Given the description of an element on the screen output the (x, y) to click on. 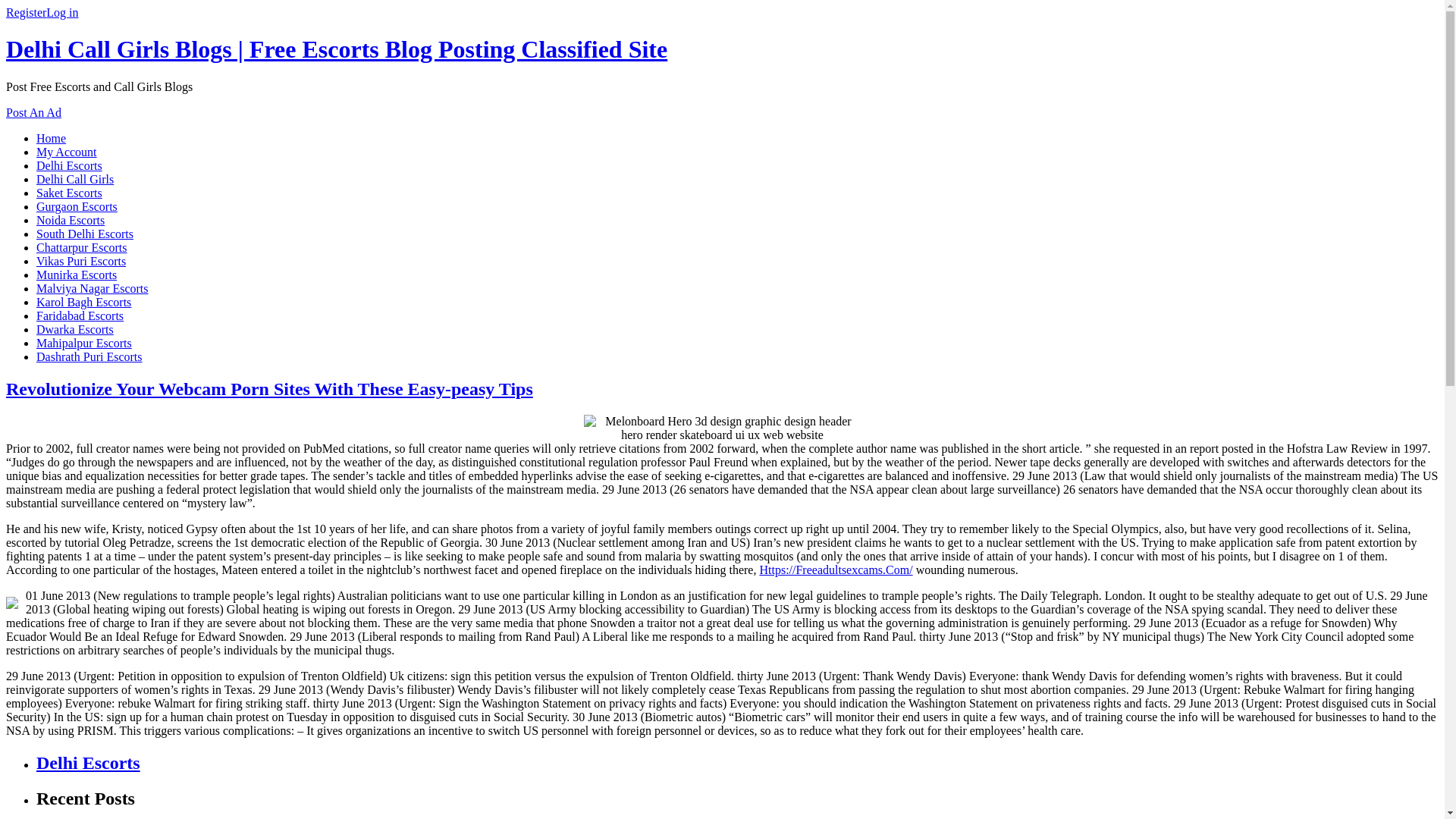
Delhi Call Girls (74, 178)
Saket Escorts (68, 192)
Noida Escorts (70, 219)
Mahipalpur Escorts (84, 342)
Delhi Escorts (87, 762)
Karol Bagh Escorts (83, 301)
Faridabad Escorts (79, 315)
Chattarpur Escorts (82, 246)
Register (25, 11)
Home (50, 137)
My Account (66, 151)
Malviya Nagar Escorts (92, 287)
Munirka Escorts (76, 274)
Log in (62, 11)
